Given the description of an element on the screen output the (x, y) to click on. 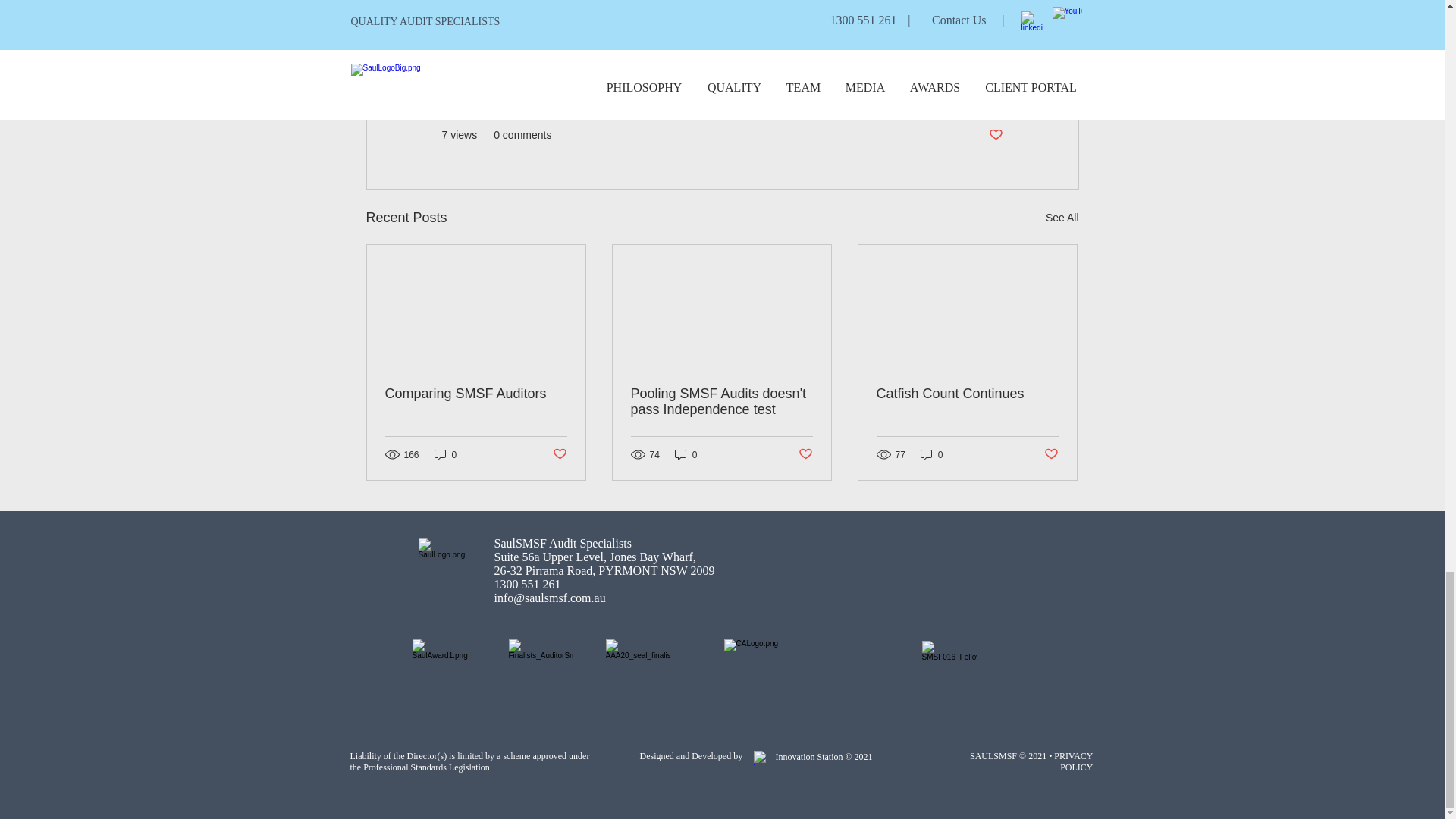
Comparing SMSF Auditors (476, 393)
Post not marked as liked (804, 454)
0 (931, 454)
Post not marked as liked (995, 134)
0 (685, 454)
See All (1061, 218)
Post not marked as liked (1050, 454)
Pooling SMSF Audits doesn't pass Independence test (721, 401)
1300 551 261 (527, 583)
Post not marked as liked (558, 454)
